Given the description of an element on the screen output the (x, y) to click on. 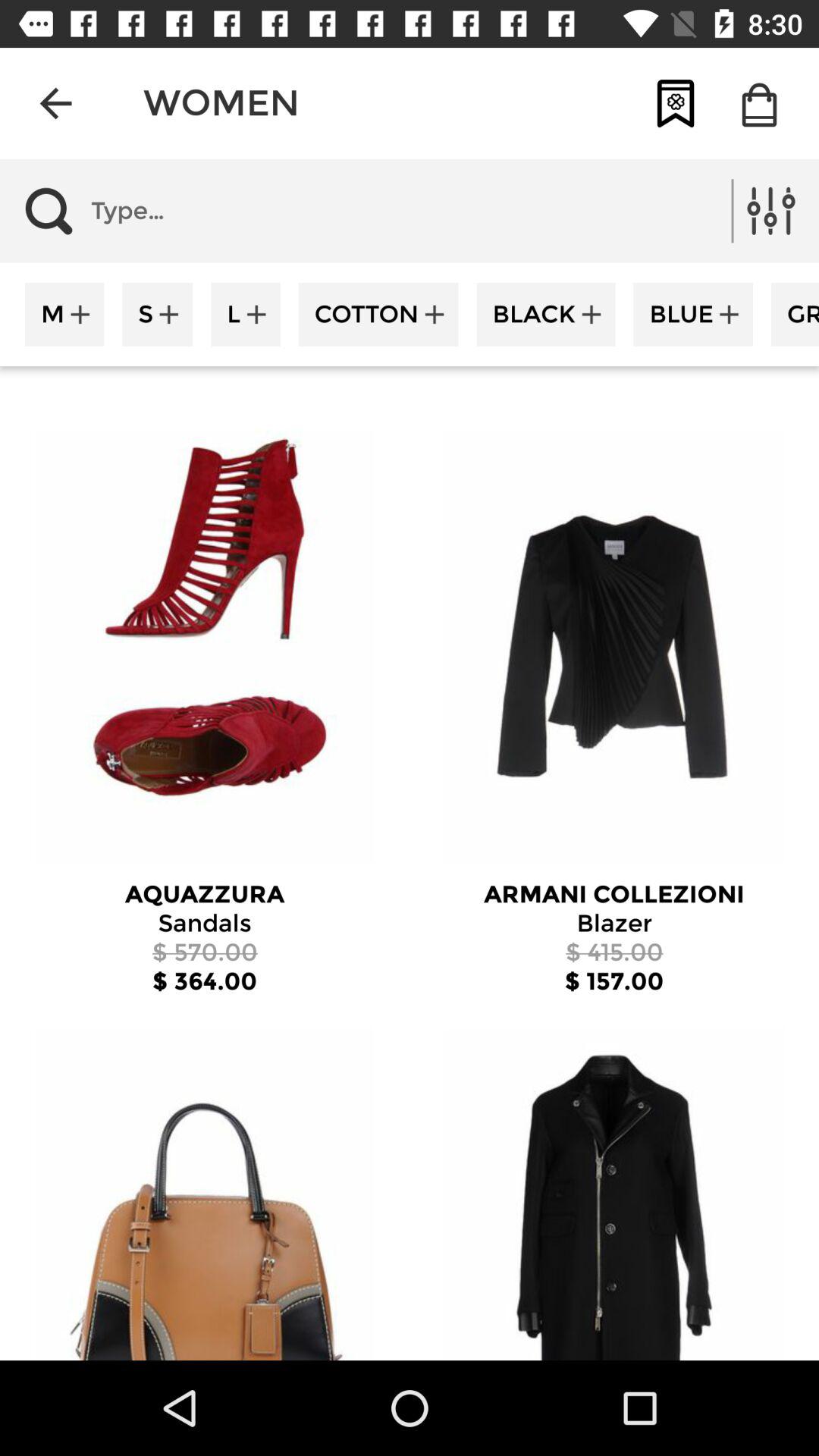
turn off the icon to the right of the women (675, 103)
